Given the description of an element on the screen output the (x, y) to click on. 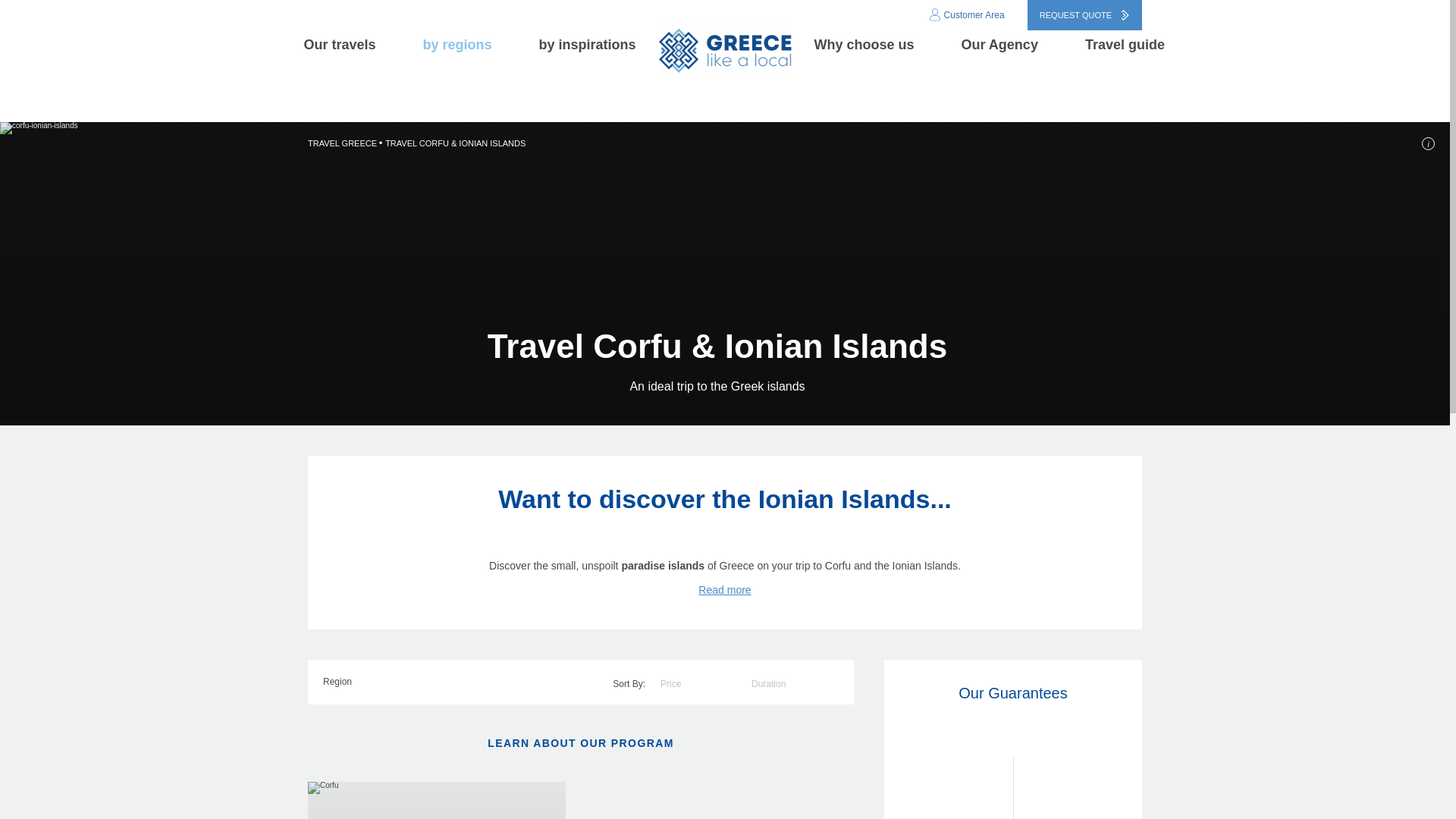
Customer Area (967, 15)
by inspirations (587, 44)
by regions (472, 44)
Our travels (354, 44)
REQUEST QUOTE (1084, 15)
Our Agency (1015, 44)
Why choose us (879, 44)
Travel guide (1124, 44)
Customer Area (967, 15)
